Given the description of an element on the screen output the (x, y) to click on. 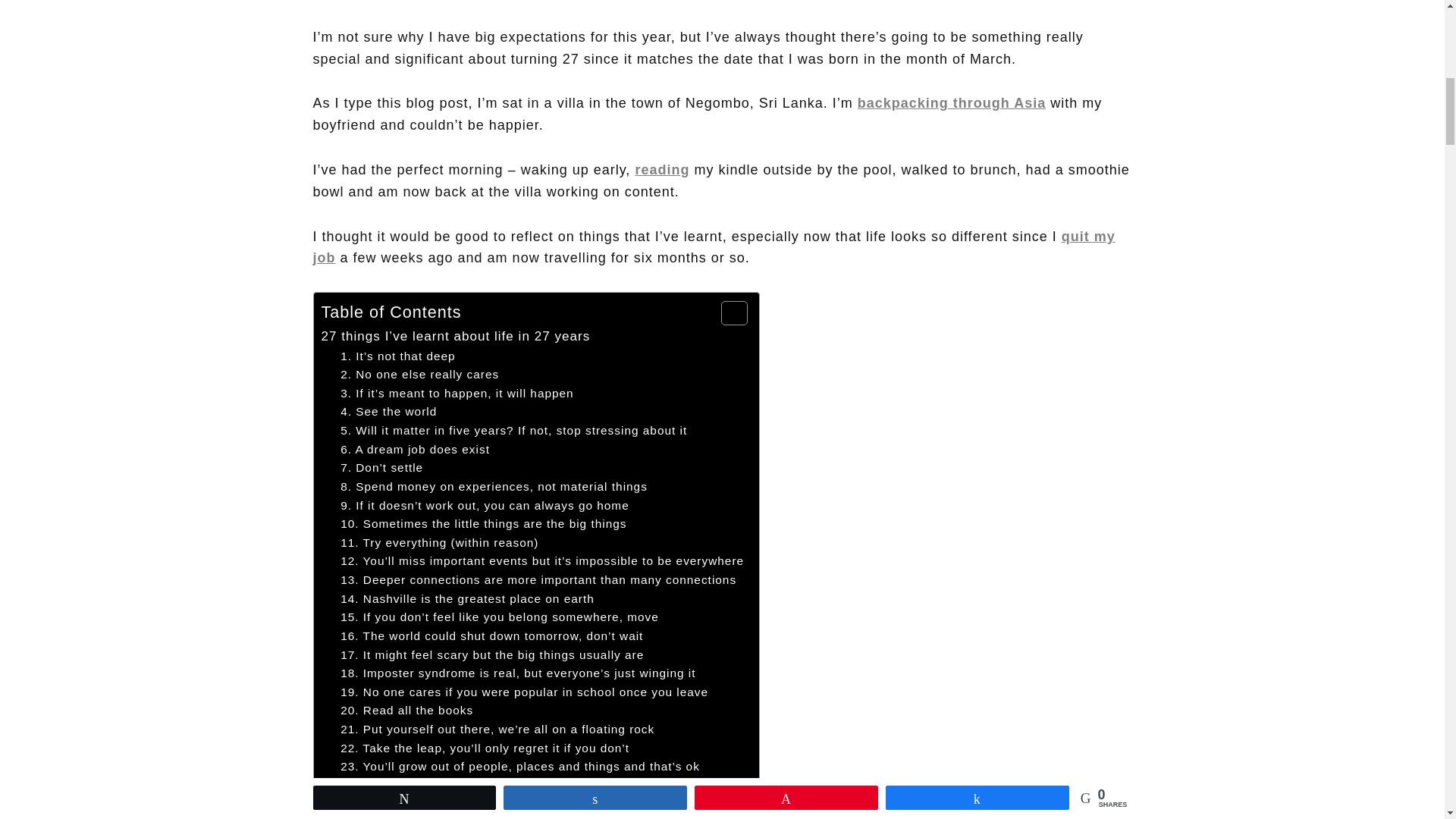
8. Spend money on experiences, not material things (493, 486)
2. No one else really cares (419, 374)
4. See the world (388, 411)
10. Sometimes the little things are the big things (483, 524)
6. A dream job does exist (414, 449)
